Given the description of an element on the screen output the (x, y) to click on. 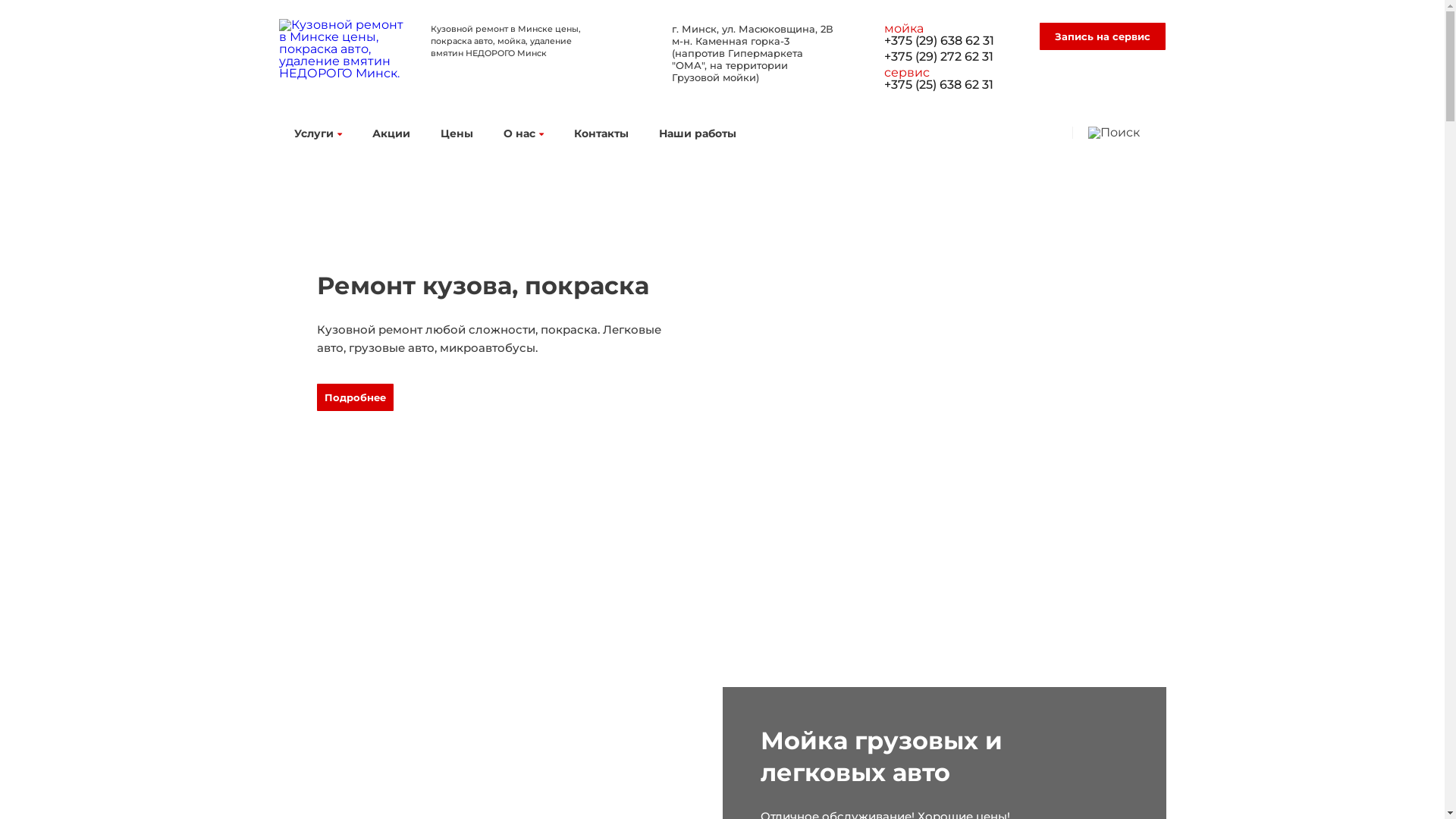
+375 (29) 638 62 31 Element type: text (949, 47)
+375 (25) 638 62 31 Element type: text (949, 91)
+375 (29) 272 62 31 Element type: text (949, 64)
